Given the description of an element on the screen output the (x, y) to click on. 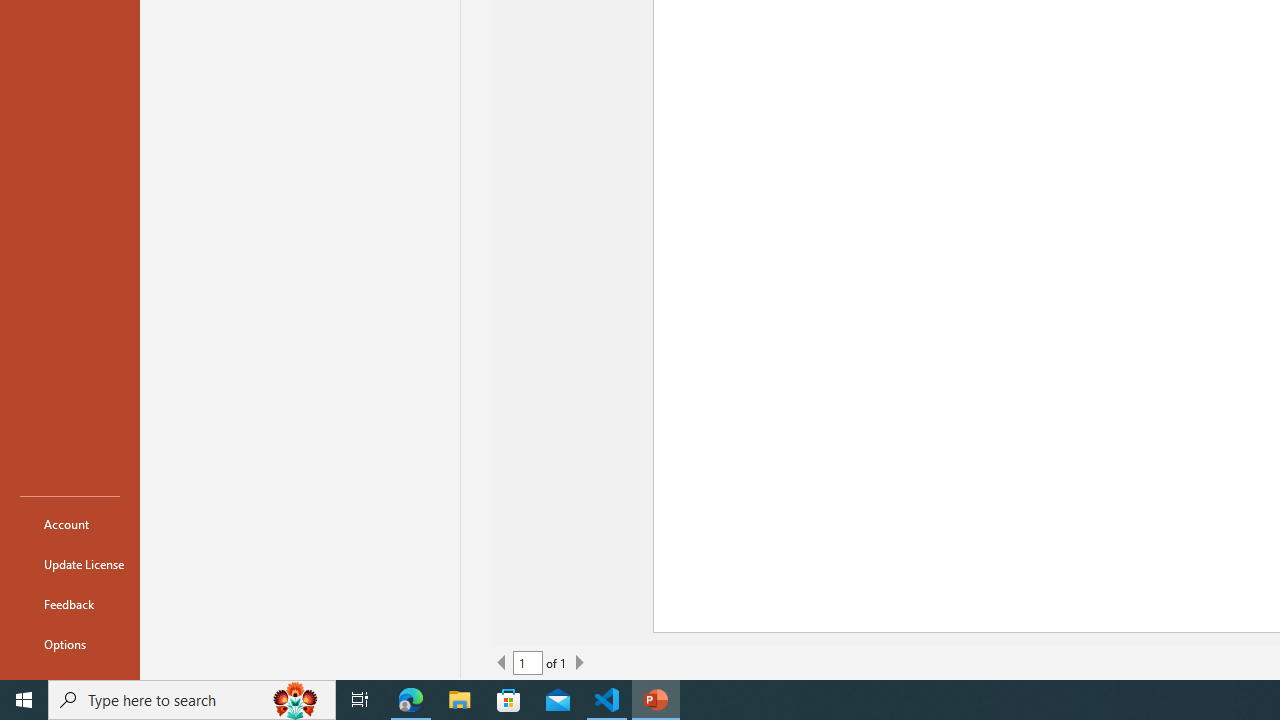
Next Page (579, 662)
Update License (69, 563)
Options (69, 643)
Feedback (69, 603)
Account (69, 523)
Previous Page (502, 662)
Current Page (527, 662)
